Given the description of an element on the screen output the (x, y) to click on. 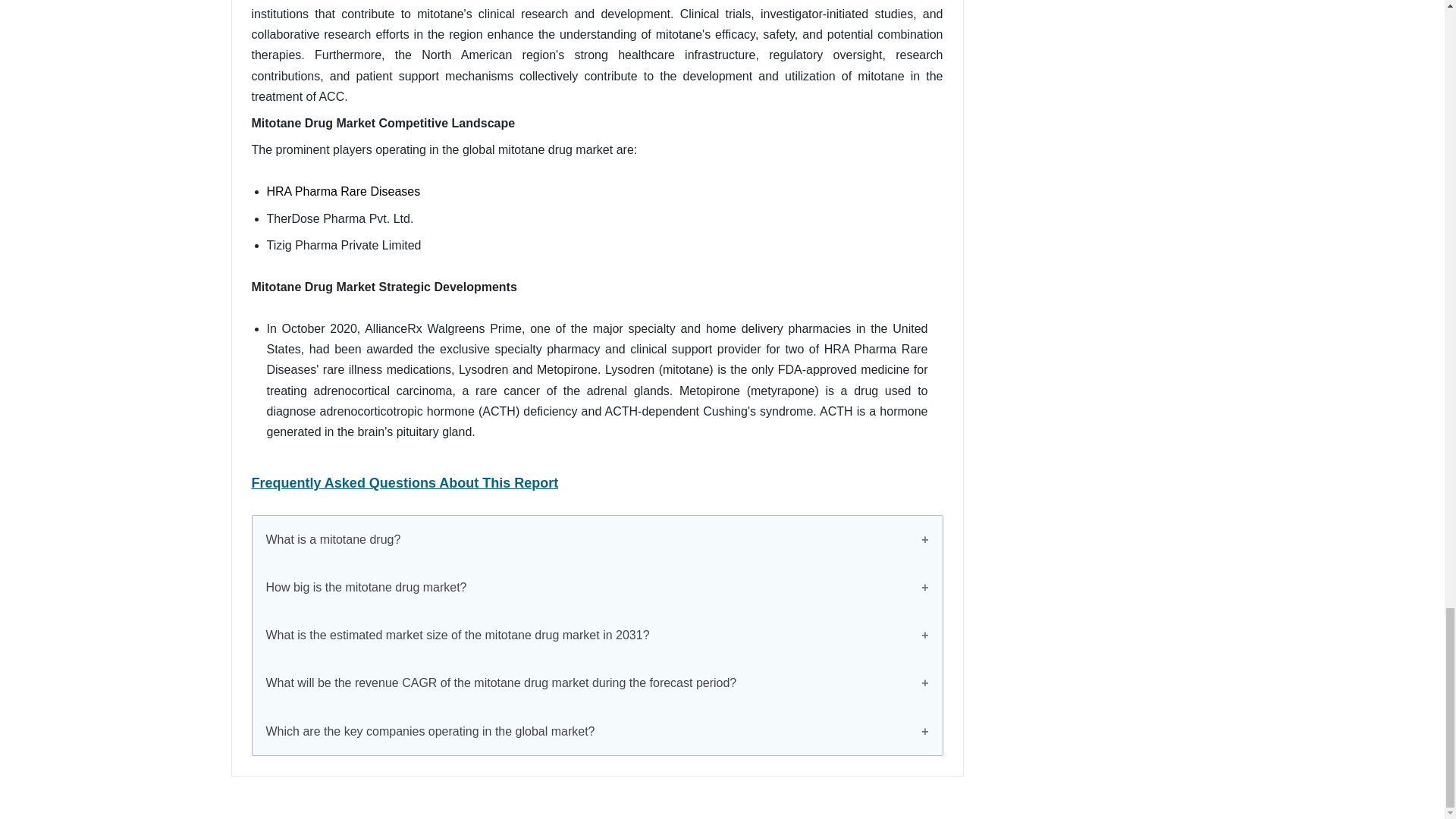
How big is the mitotane drug market? (596, 586)
What is a mitotane drug? (596, 539)
HRA Pharma Rare Diseases (343, 191)
Which are the key companies operating in the global market? (596, 731)
